Given the description of an element on the screen output the (x, y) to click on. 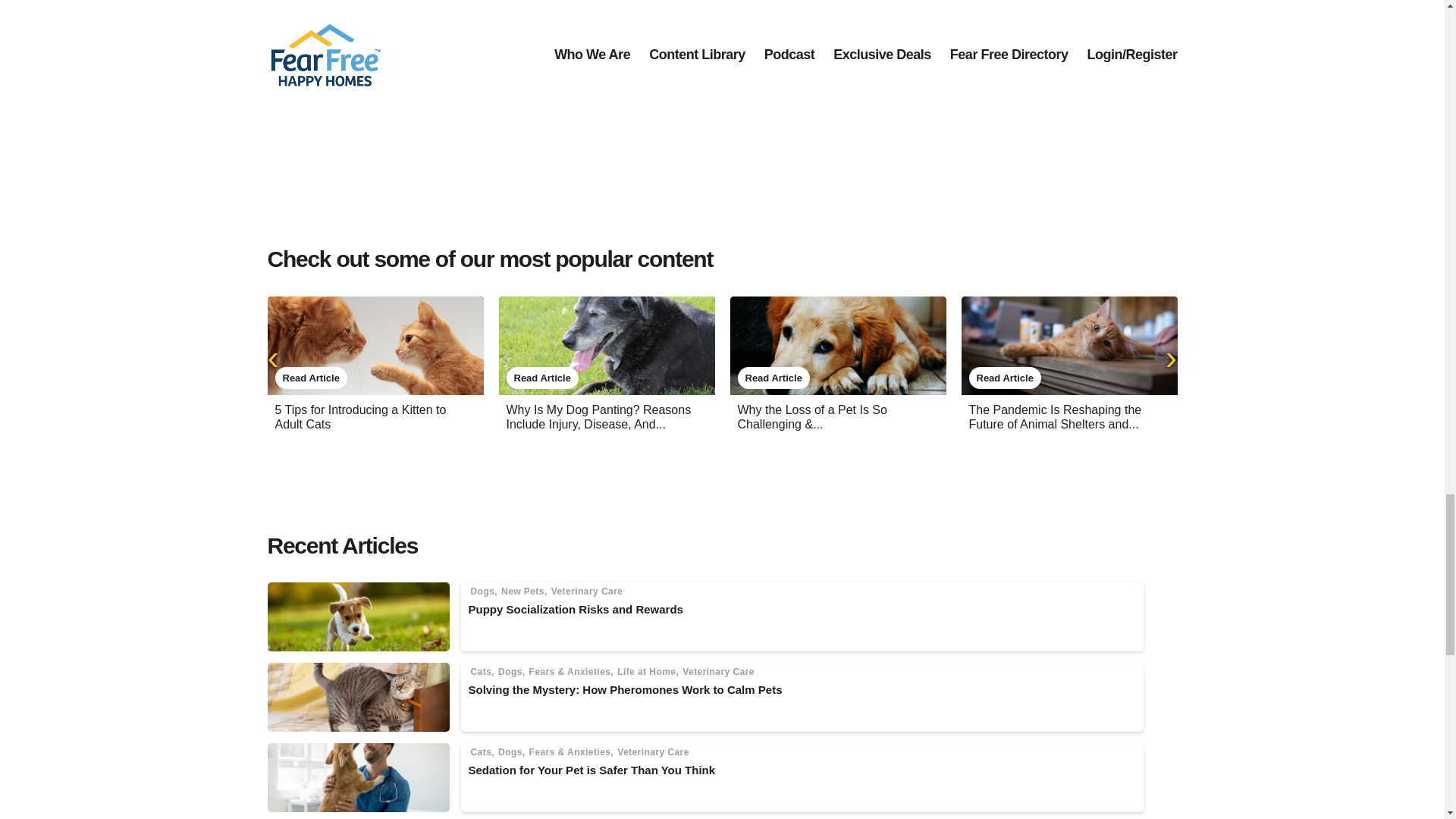
5 Tips for Introducing a Kitten to Adult Cats (360, 416)
Read Article (310, 377)
